Given the description of an element on the screen output the (x, y) to click on. 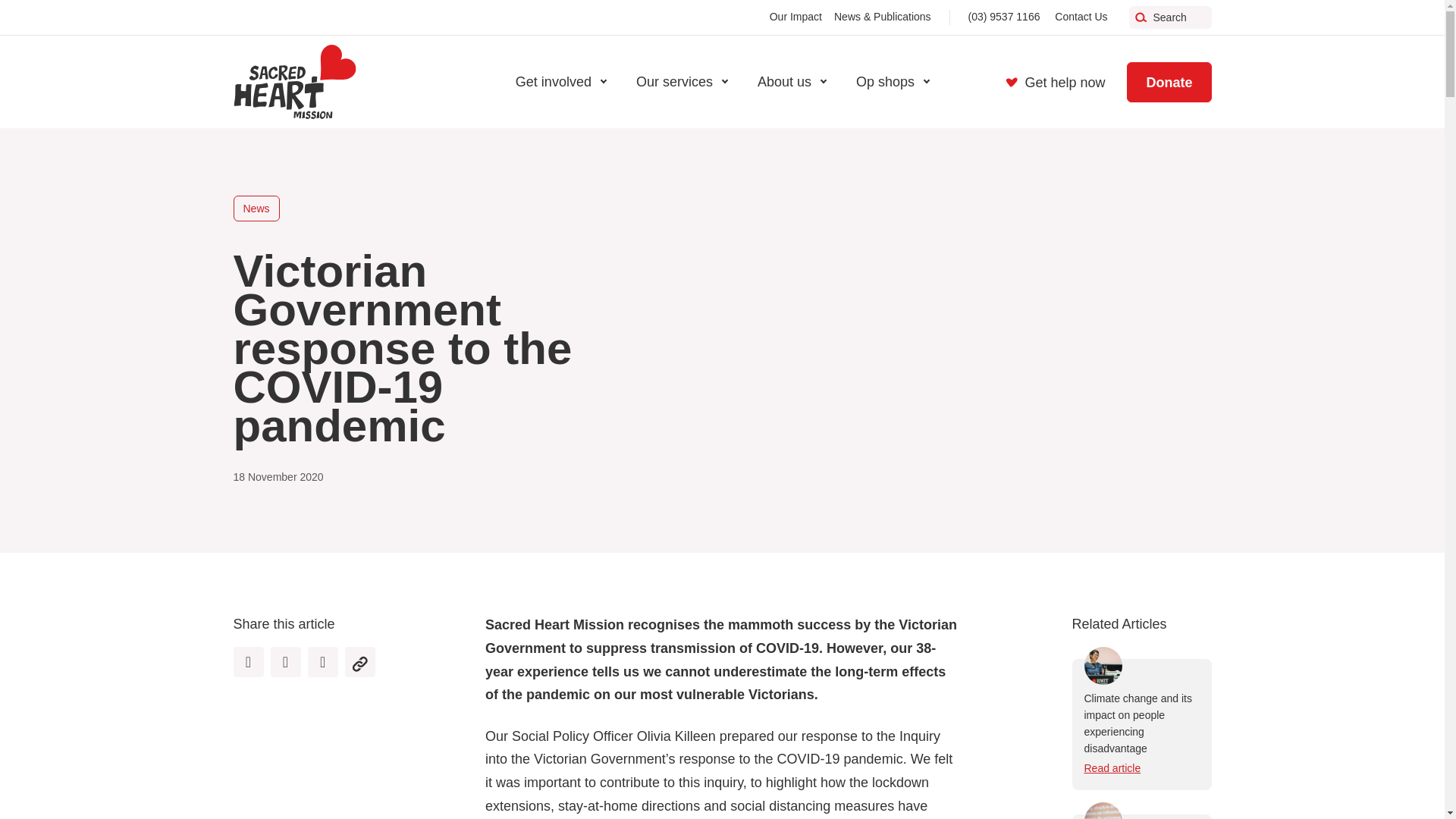
Sacred Heart Mission (294, 81)
Search (1169, 16)
Get involved (560, 81)
Contact Us (1080, 17)
About us (791, 81)
Our Impact (796, 16)
Our services (681, 81)
